Given the description of an element on the screen output the (x, y) to click on. 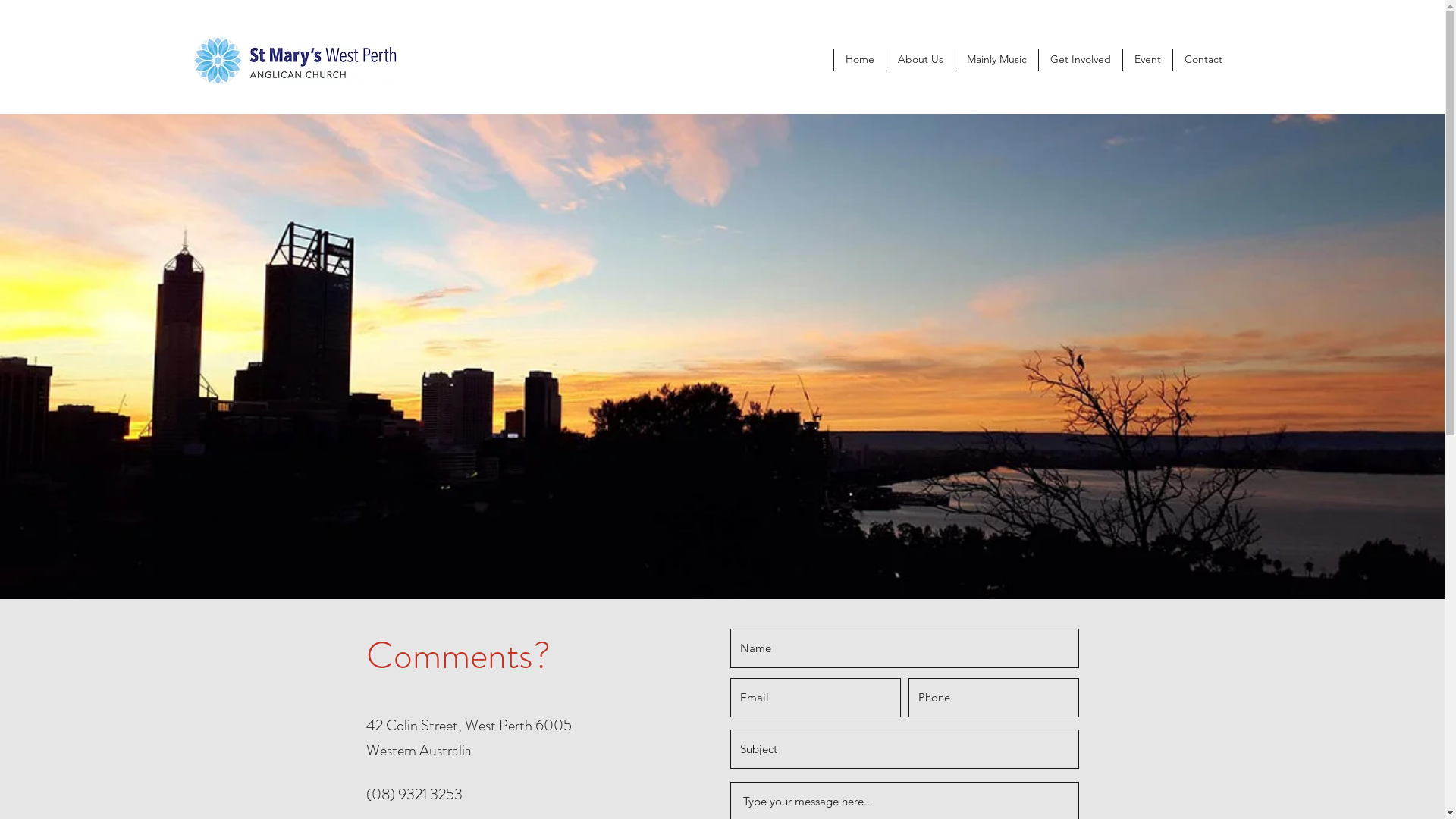
Event Element type: text (1147, 59)
Mainly Music Element type: text (996, 59)
Contact Element type: text (1202, 59)
About Us Element type: text (919, 59)
Get Involved Element type: text (1080, 59)
Home Element type: text (859, 59)
